Given the description of an element on the screen output the (x, y) to click on. 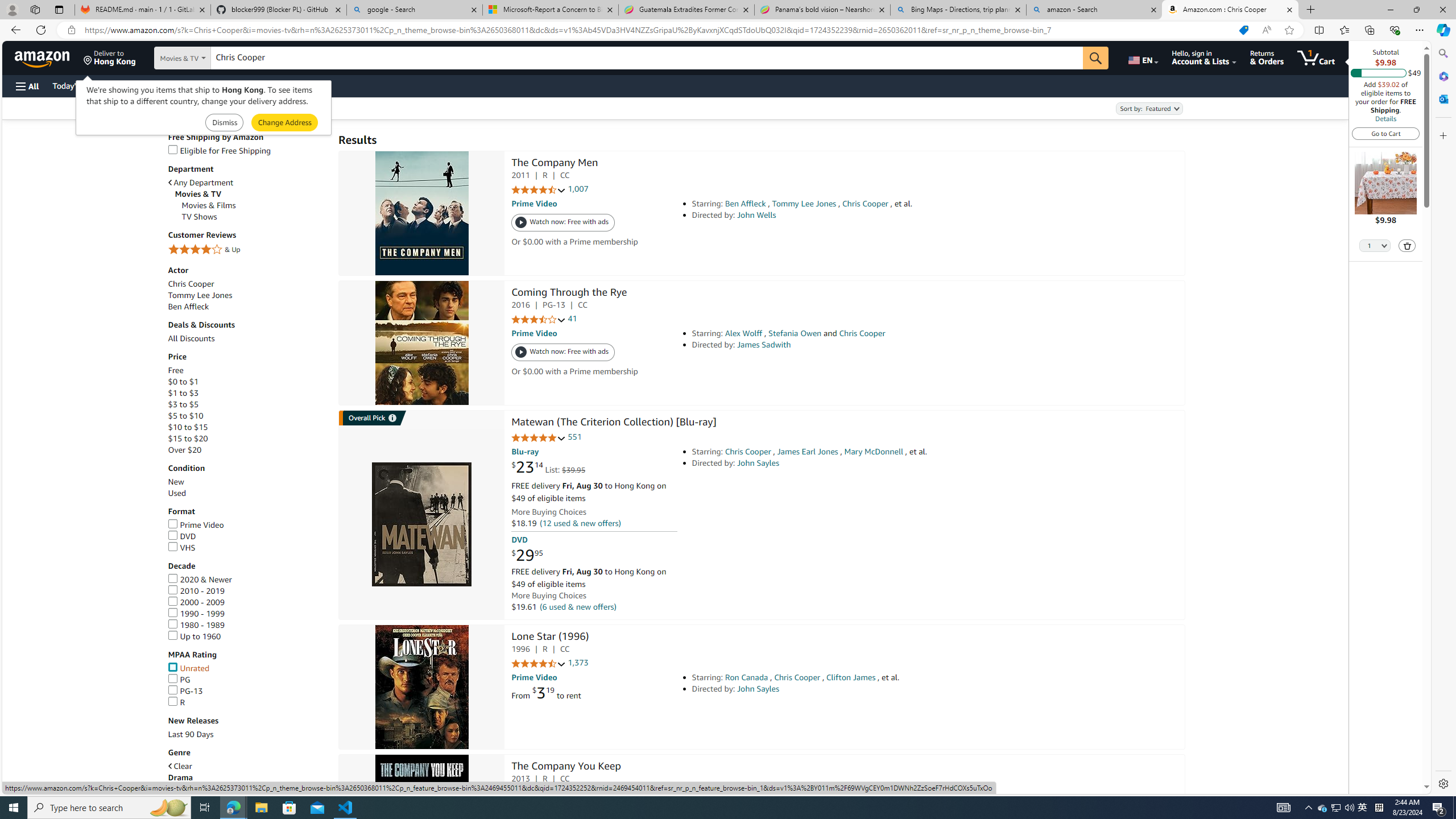
$15 to $20 (247, 438)
TV Shows (199, 216)
1,007 (577, 189)
Movies & TV (250, 194)
R (175, 702)
Hello, sign in Account & Lists (1203, 57)
PG (247, 679)
DVD (247, 536)
Go (1096, 57)
Used (176, 493)
Prime Video (247, 524)
